Given the description of an element on the screen output the (x, y) to click on. 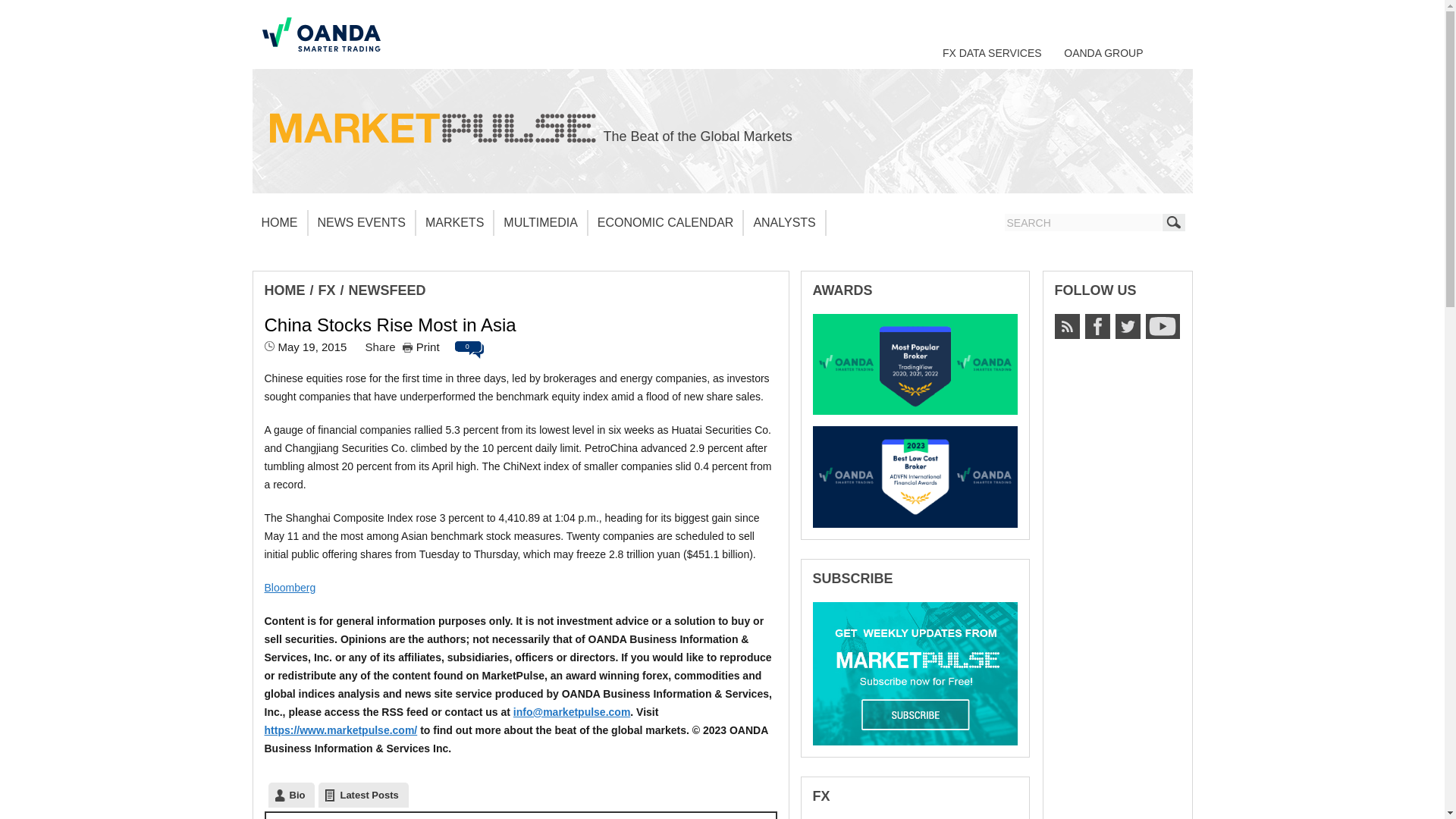
Youtube (1161, 326)
NEWS EVENTS (360, 222)
Twitter (1127, 326)
Find (1173, 221)
Latest Posts (362, 794)
FX DATA SERVICES (992, 52)
Print (421, 346)
MULTIMEDIA (540, 222)
Facebook (1096, 326)
Bio (291, 794)
